Given the description of an element on the screen output the (x, y) to click on. 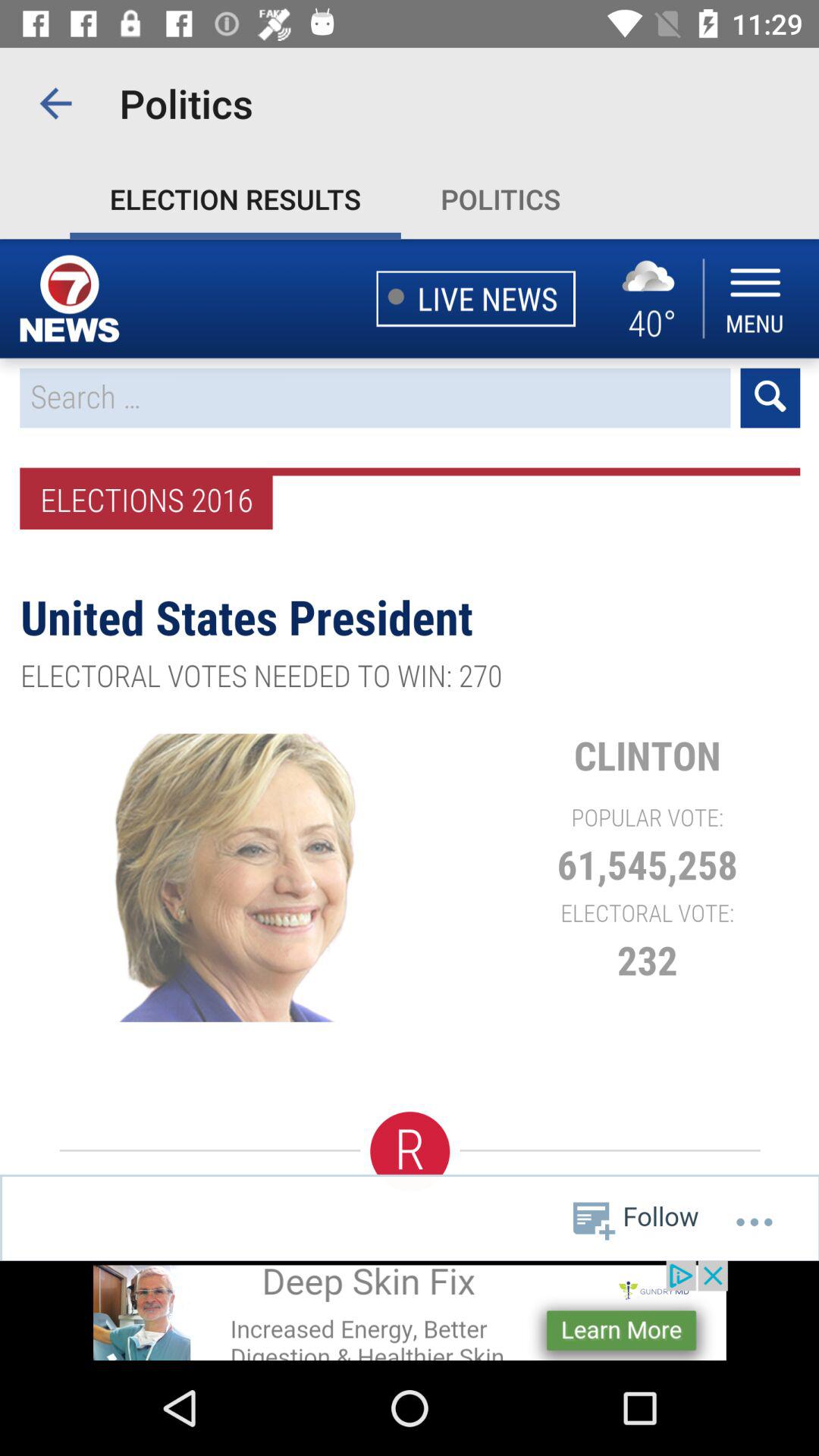
advertisement area (409, 1310)
